Given the description of an element on the screen output the (x, y) to click on. 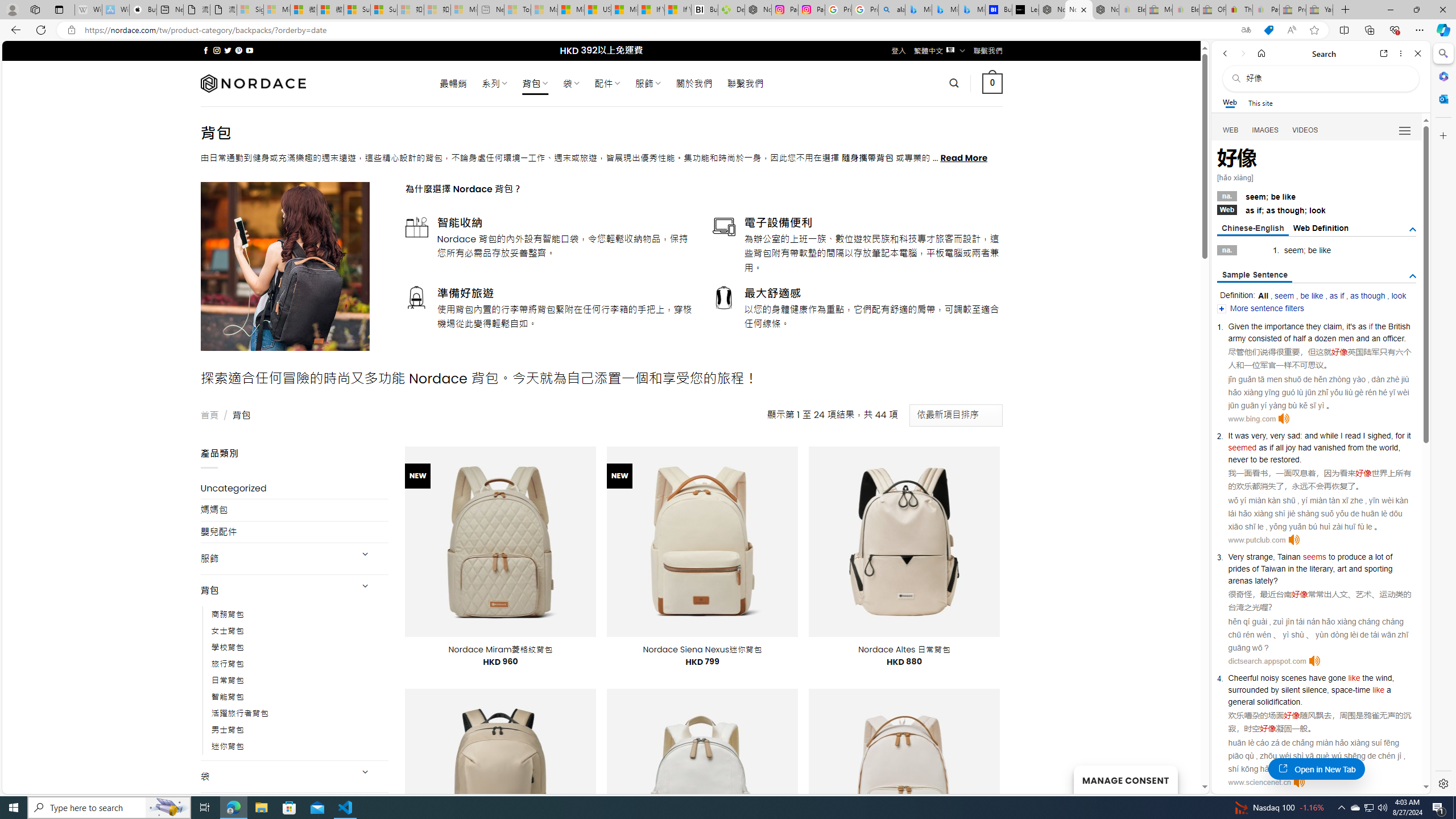
US Heat Deaths Soared To Record High Last Year (597, 9)
wind (1383, 677)
if (1370, 325)
they (1313, 325)
though (1290, 209)
seem (1284, 295)
Click to listen (1299, 782)
as if (1336, 295)
